Given the description of an element on the screen output the (x, y) to click on. 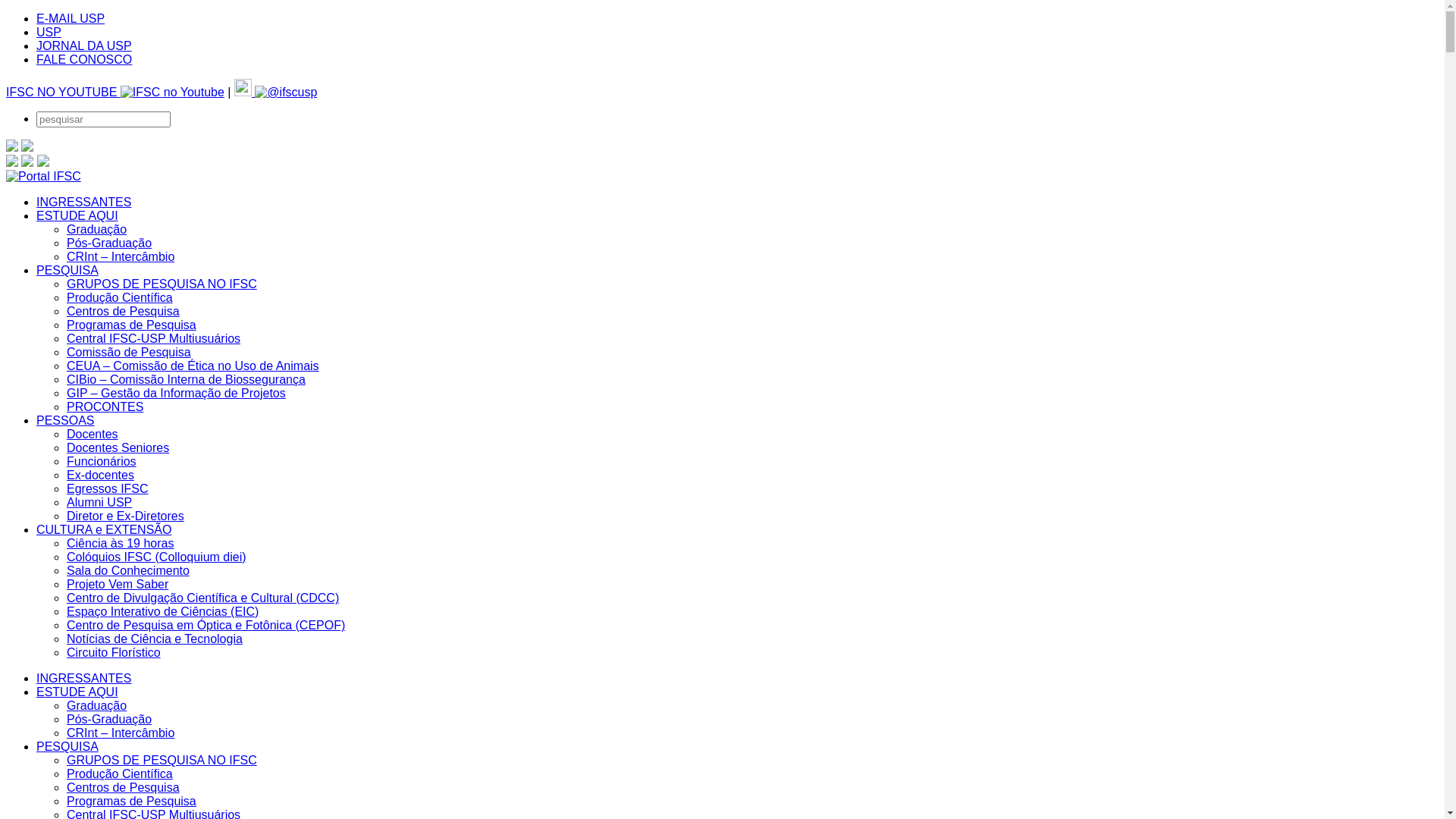
INGRESSANTES Element type: text (83, 201)
Programas de Pesquisa Element type: text (131, 324)
INGRESSANTES Element type: text (83, 677)
Ex-docentes Element type: text (100, 474)
ESTUDE AQUI Element type: text (77, 215)
GRUPOS DE PESQUISA NO IFSC Element type: text (161, 759)
USP Element type: text (48, 31)
PROCONTES Element type: text (104, 406)
E-MAIL USP Element type: text (70, 18)
Projeto Vem Saber Element type: text (117, 583)
Docentes Seniores Element type: text (117, 447)
Egressos IFSC Element type: text (107, 488)
Centros de Pesquisa Element type: text (122, 310)
FALE CONOSCO Element type: text (83, 59)
PESQUISA Element type: text (67, 269)
Portal IFSC Element type: hover (43, 175)
Programas de Pesquisa Element type: text (131, 800)
Centros de Pesquisa Element type: text (122, 787)
GRUPOS DE PESQUISA NO IFSC Element type: text (161, 283)
Docentes Element type: text (92, 433)
PESSOAS Element type: text (65, 420)
IFSC NO YOUTUBE Element type: text (115, 91)
ESTUDE AQUI Element type: text (77, 691)
Alumni USP Element type: text (98, 501)
Sala do Conhecimento Element type: text (127, 570)
Diretor e Ex-Diretores Element type: text (125, 515)
JORNAL DA USP Element type: text (83, 45)
PESQUISA Element type: text (67, 746)
